Given the description of an element on the screen output the (x, y) to click on. 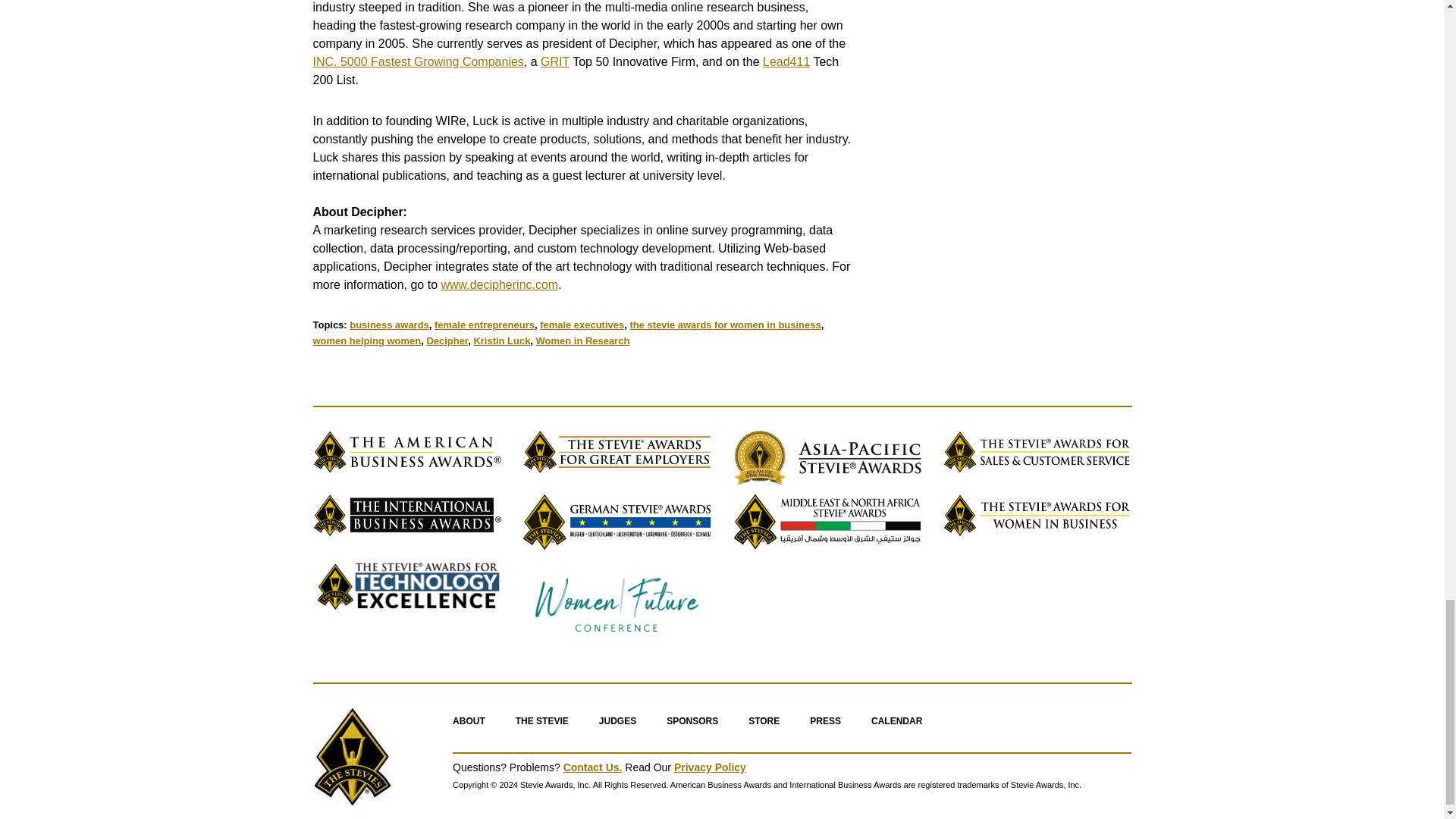
GRIT (554, 61)
Lead411 (785, 61)
INC. 5000 Fastest Growing Companies (417, 61)
www.decipherinc.com (499, 284)
